Given the description of an element on the screen output the (x, y) to click on. 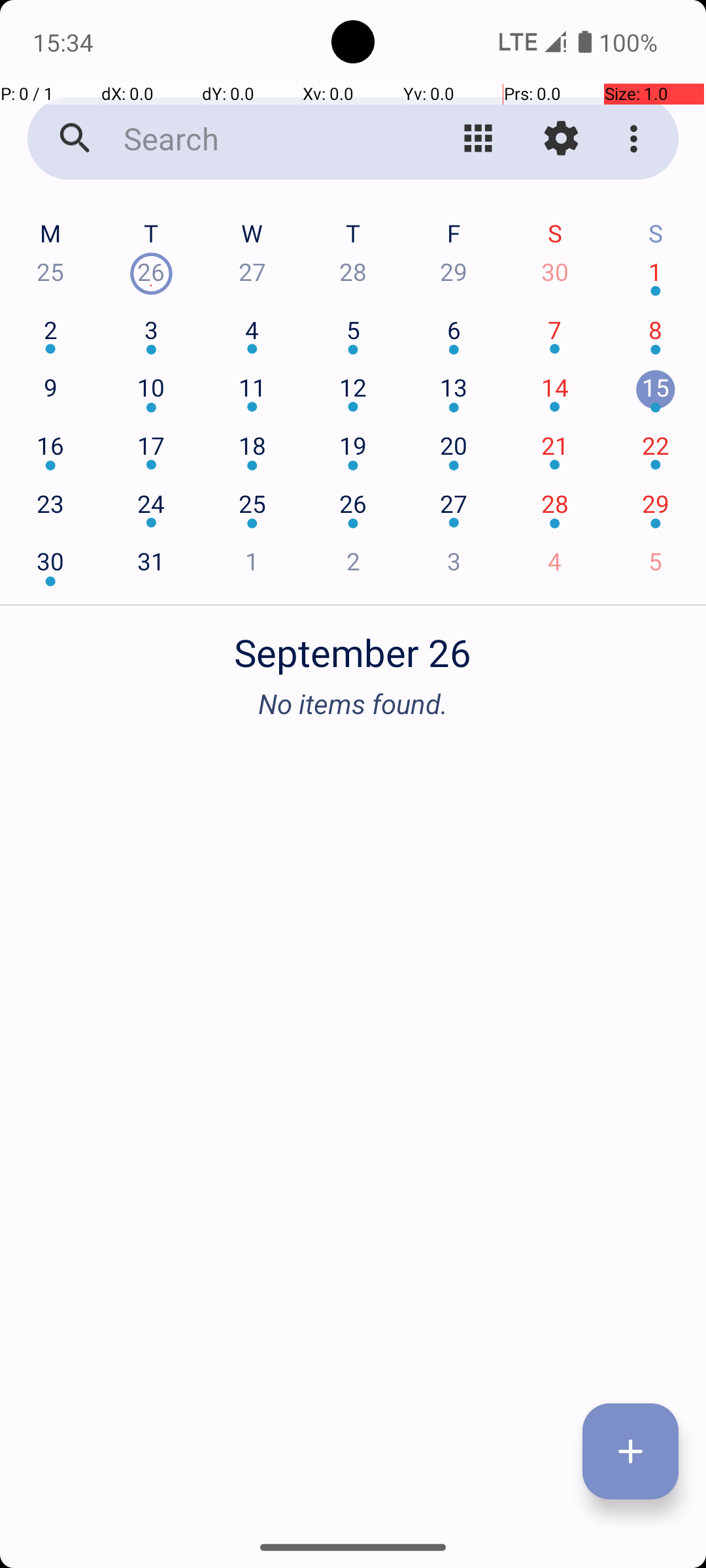
September 26 Element type: android.widget.TextView (352, 644)
